Given the description of an element on the screen output the (x, y) to click on. 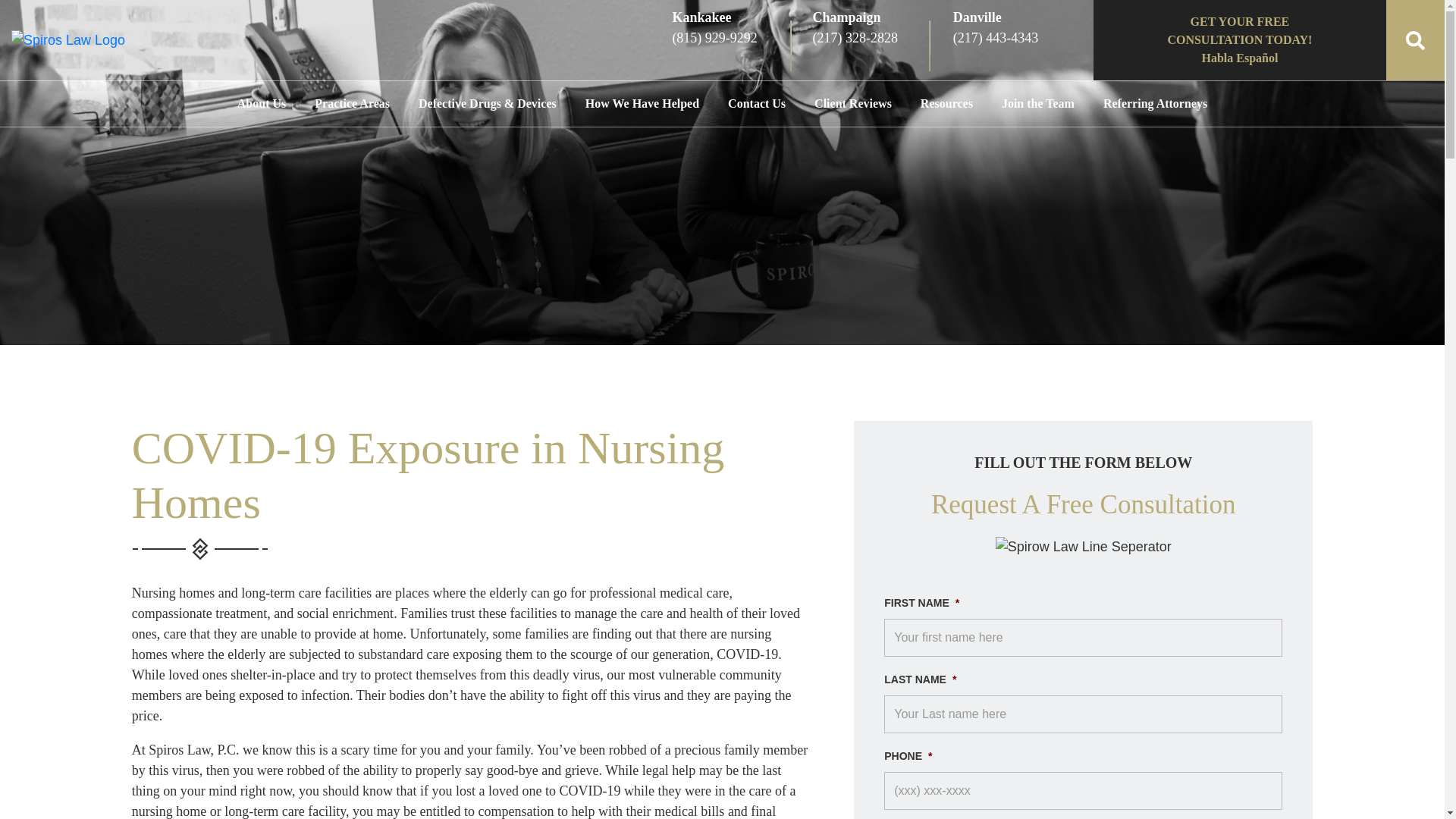
Resources (946, 103)
Practice Areas (351, 103)
How We Have Helped (642, 103)
Referring Attorneys (1155, 103)
Client Reviews (853, 103)
Referring Attorneys (1155, 103)
About Us (261, 103)
Consultation Button (1239, 39)
Join the Team (1037, 103)
Practice Areas (351, 103)
About Us (261, 103)
Join the Team (1037, 103)
Contact Us (756, 103)
Client Reviews (853, 103)
How We Have Helped (642, 103)
